Given the description of an element on the screen output the (x, y) to click on. 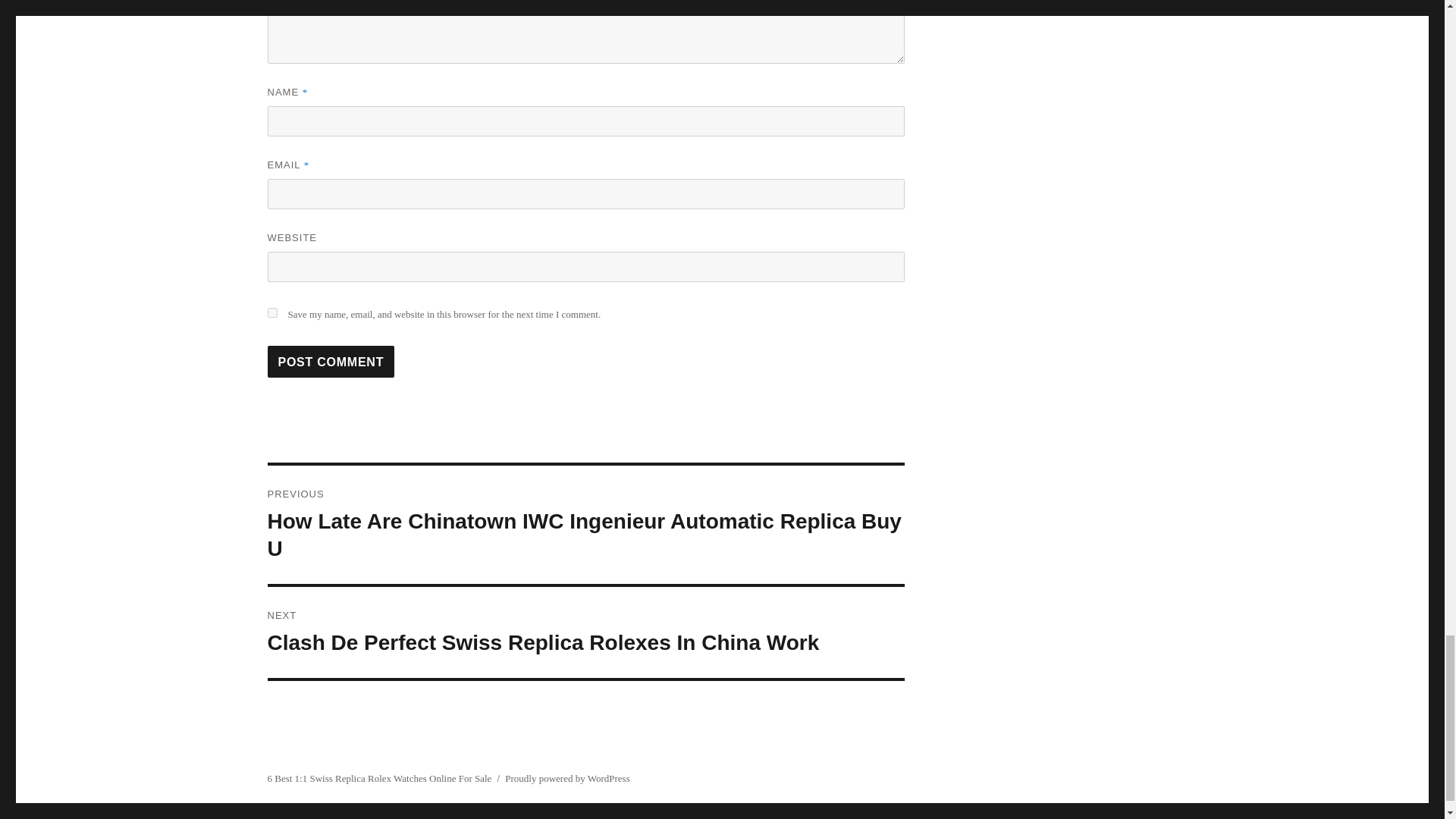
Post Comment (330, 361)
yes (271, 312)
Post Comment (330, 361)
